Given the description of an element on the screen output the (x, y) to click on. 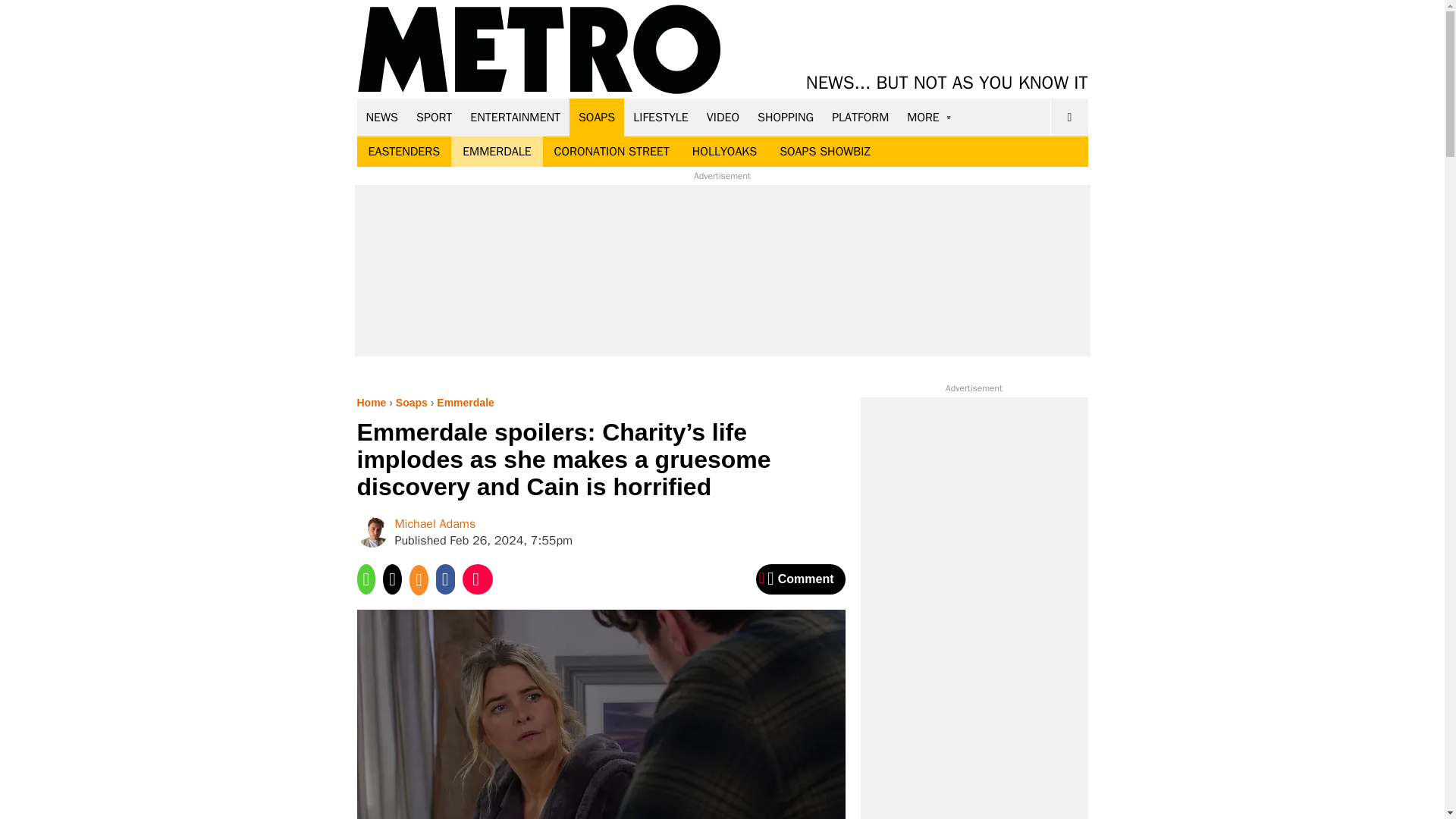
SOAPS (596, 117)
CORONATION STREET (612, 151)
LIFESTYLE (660, 117)
ENTERTAINMENT (515, 117)
NEWS (381, 117)
Metro (539, 50)
EMMERDALE (496, 151)
SOAPS SHOWBIZ (825, 151)
SPORT (434, 117)
HOLLYOAKS (724, 151)
EASTENDERS (403, 151)
